Given the description of an element on the screen output the (x, y) to click on. 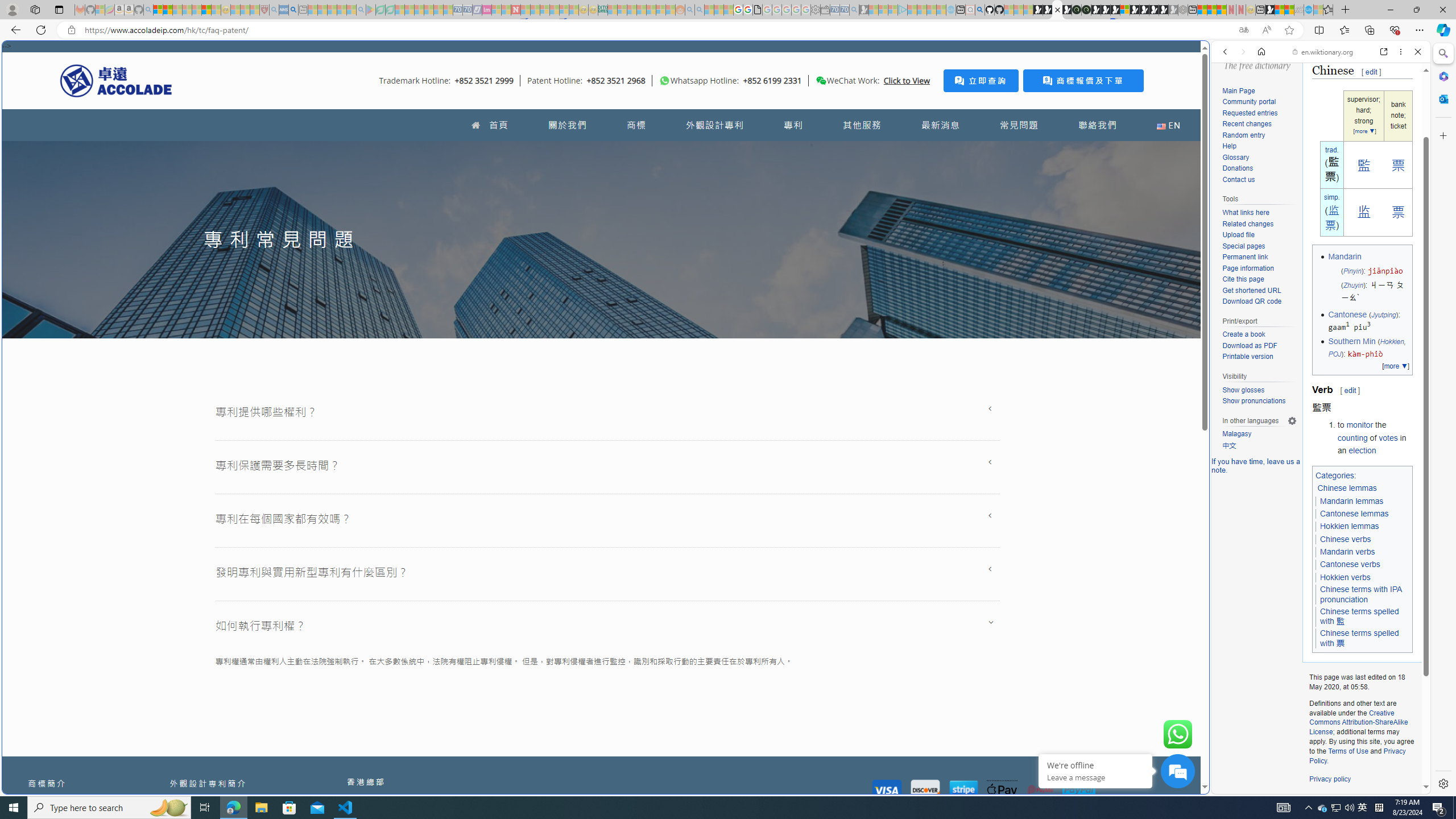
Community portal (1248, 101)
github - Search (979, 9)
Malagasy (1259, 434)
SEARCH TOOLS (1350, 130)
Trusted Community Engagement and Contributions | Guidelines (525, 9)
Actions for this site (1370, 583)
Mandarin lemmas (1351, 501)
Mandarin (1344, 256)
